Given the description of an element on the screen output the (x, y) to click on. 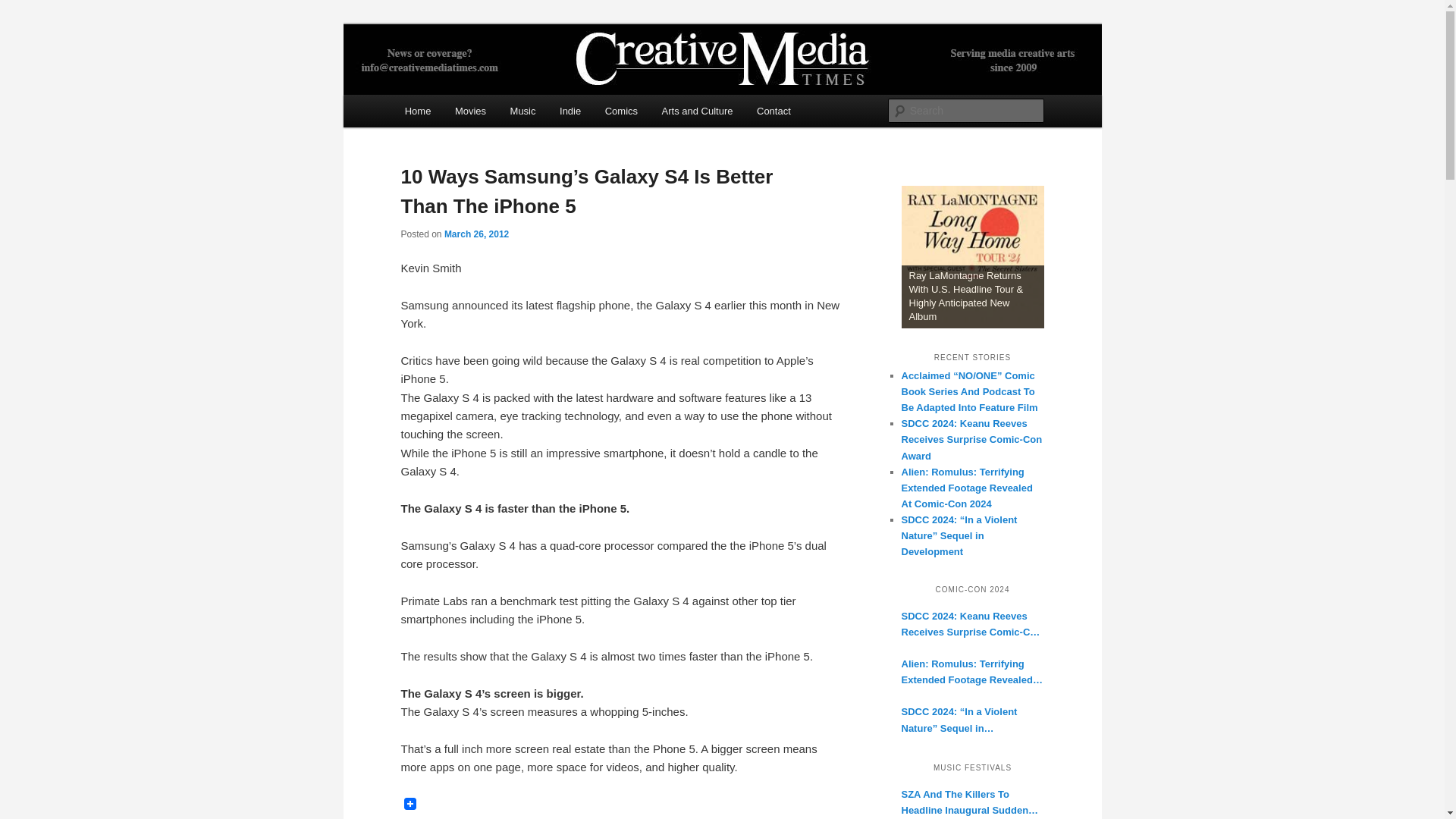
Creative Media Times (515, 78)
March 26, 2012 (476, 234)
Comics (620, 111)
Arts and Culture (696, 111)
Movies (469, 111)
Search (24, 8)
Indie (569, 111)
Home (417, 111)
Music (522, 111)
SDCC 2024: Keanu Reeves Receives Surprise Comic-Con Award (972, 623)
4:43 am (476, 234)
SDCC 2024: Keanu Reeves Receives Surprise Comic-Con Award (971, 439)
